Given the description of an element on the screen output the (x, y) to click on. 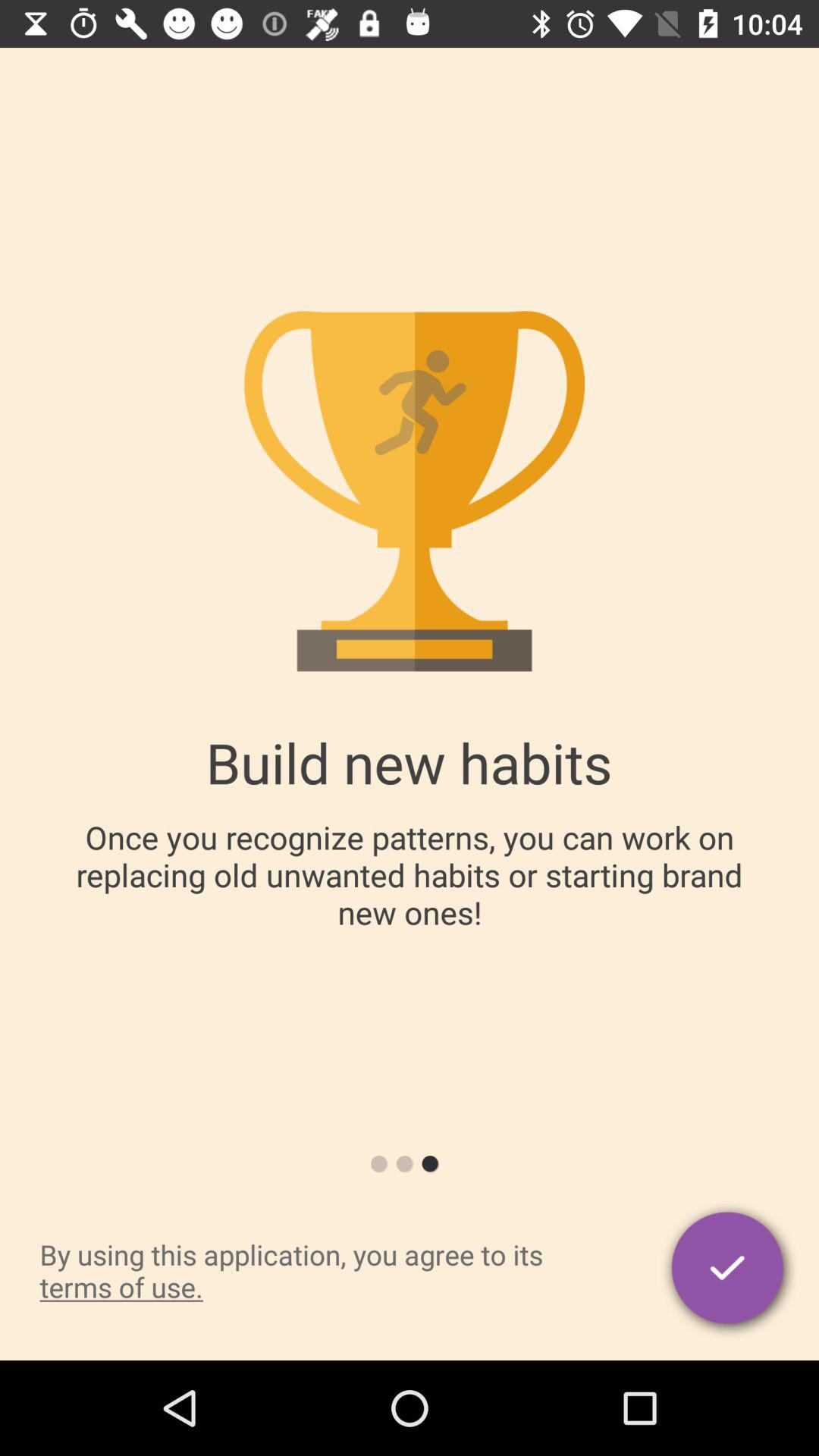
swipe until the by using this (323, 1270)
